Given the description of an element on the screen output the (x, y) to click on. 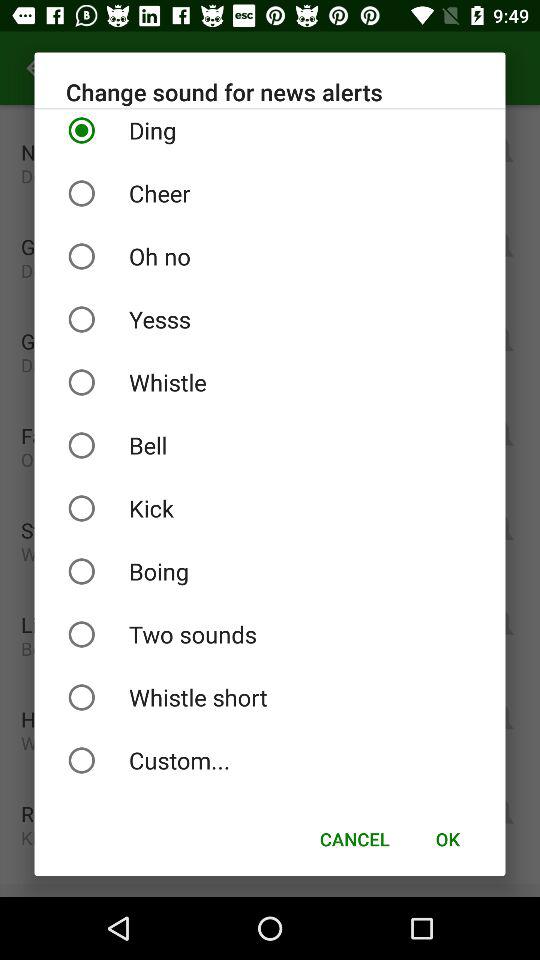
choose the icon next to the ok (354, 838)
